Given the description of an element on the screen output the (x, y) to click on. 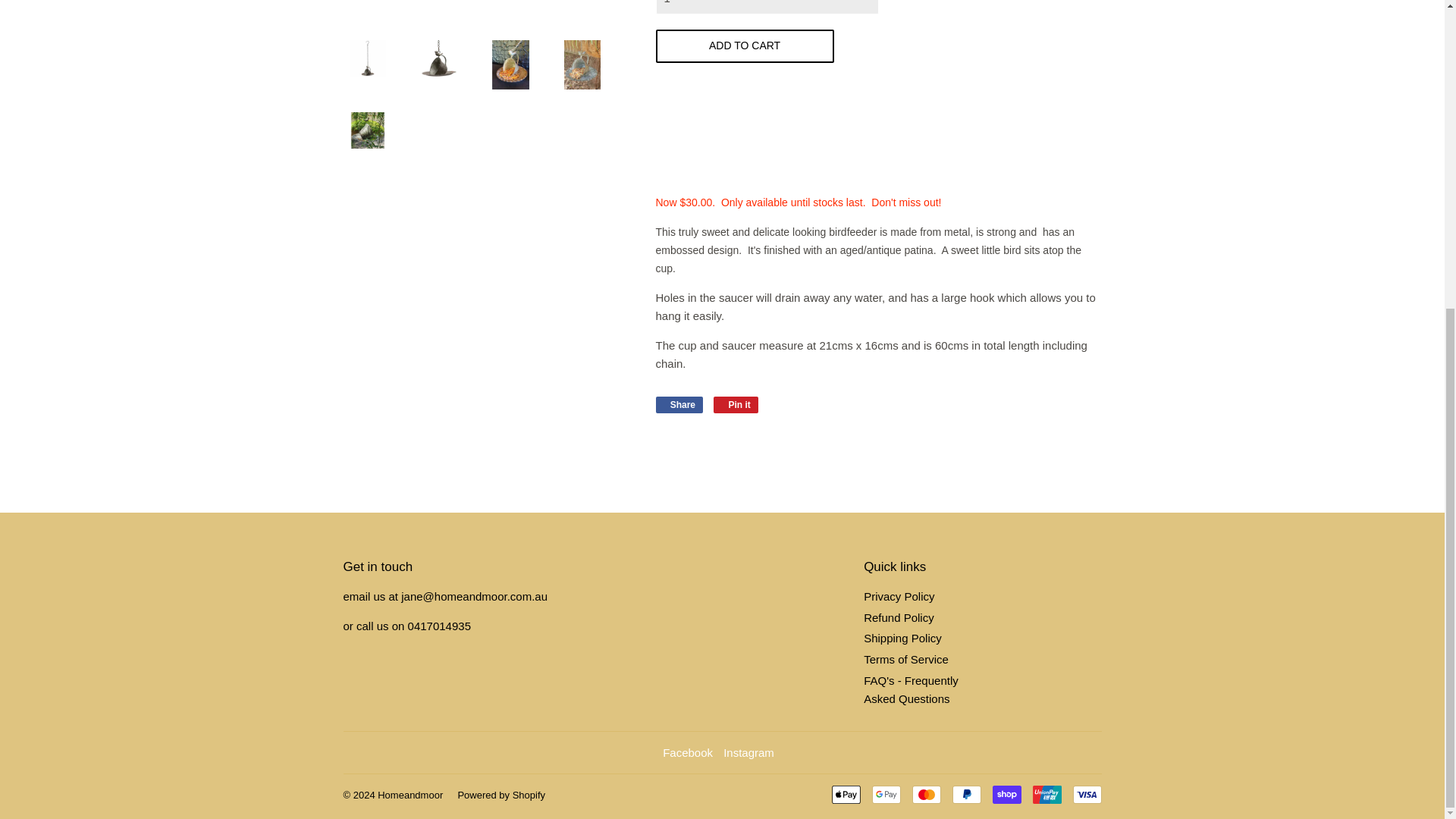
tel:0417014935 (438, 625)
Google Pay (886, 794)
Union Pay (1046, 794)
Pin on Pinterest (735, 404)
Mastercard (925, 794)
Share on Facebook (679, 404)
Homeandmoor on Facebook (687, 752)
Visa (1085, 794)
PayPal (966, 794)
1 (766, 7)
Apple Pay (845, 794)
Homeandmoor on Instagram (748, 752)
Shop Pay (1005, 794)
